Given the description of an element on the screen output the (x, y) to click on. 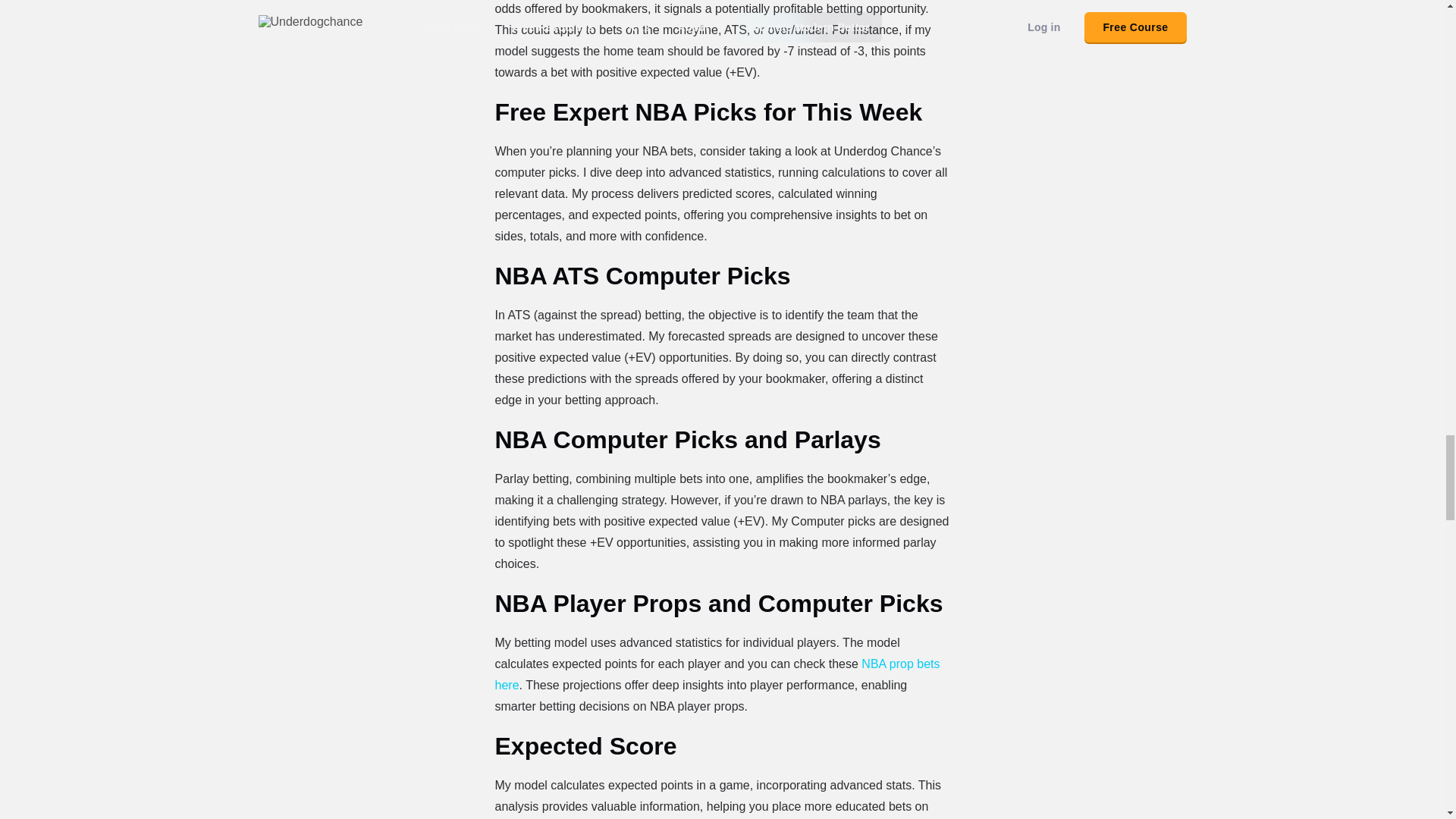
NBA prop bets here (717, 674)
